Given the description of an element on the screen output the (x, y) to click on. 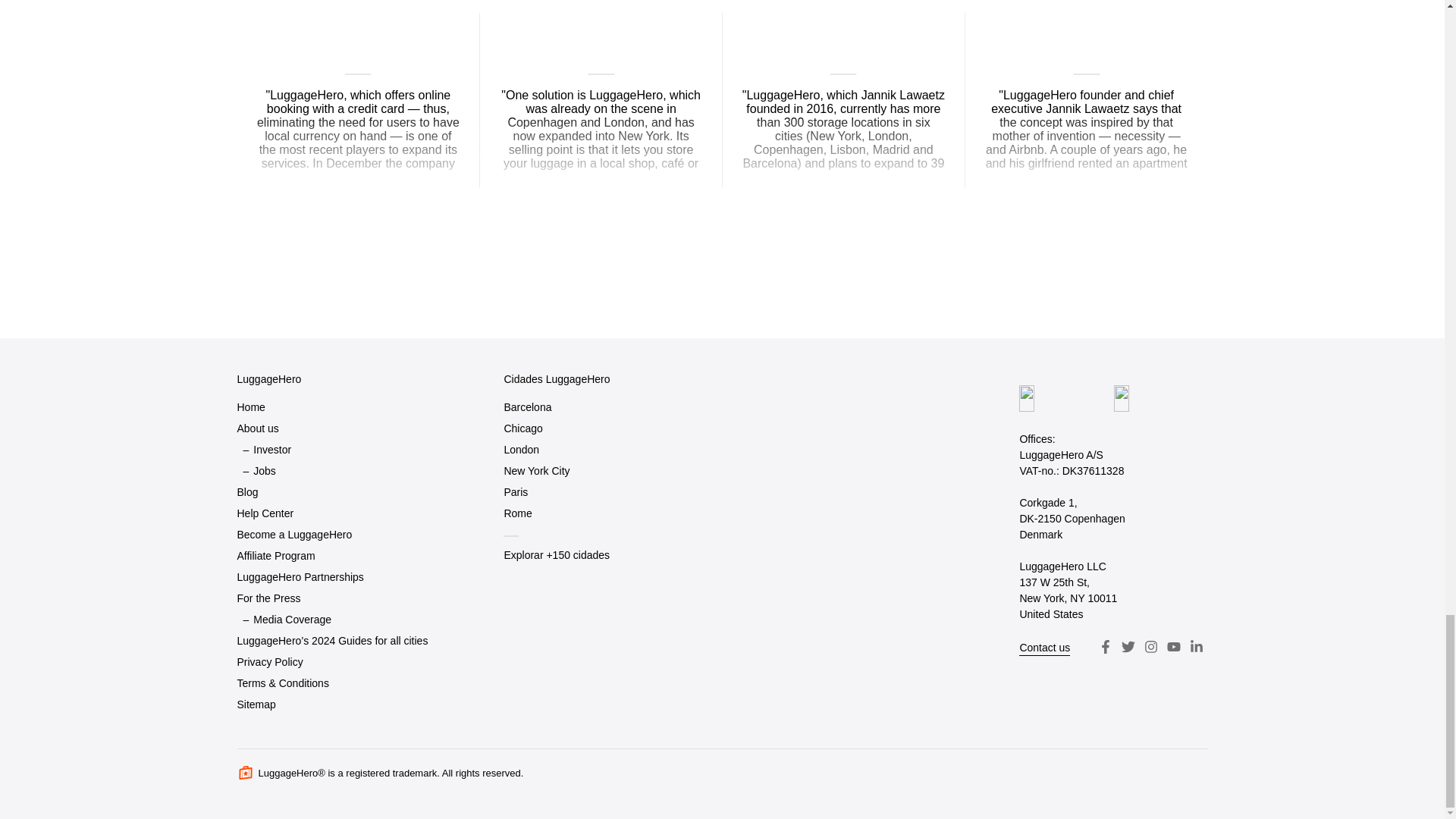
Investor (272, 449)
Privacy Policy (268, 661)
Jobs (264, 470)
Chicago (522, 428)
Become a LuggageHero (293, 534)
Help Center (264, 513)
Home (249, 407)
About us (256, 428)
For the Press (267, 598)
Sitemap (255, 704)
